Given the description of an element on the screen output the (x, y) to click on. 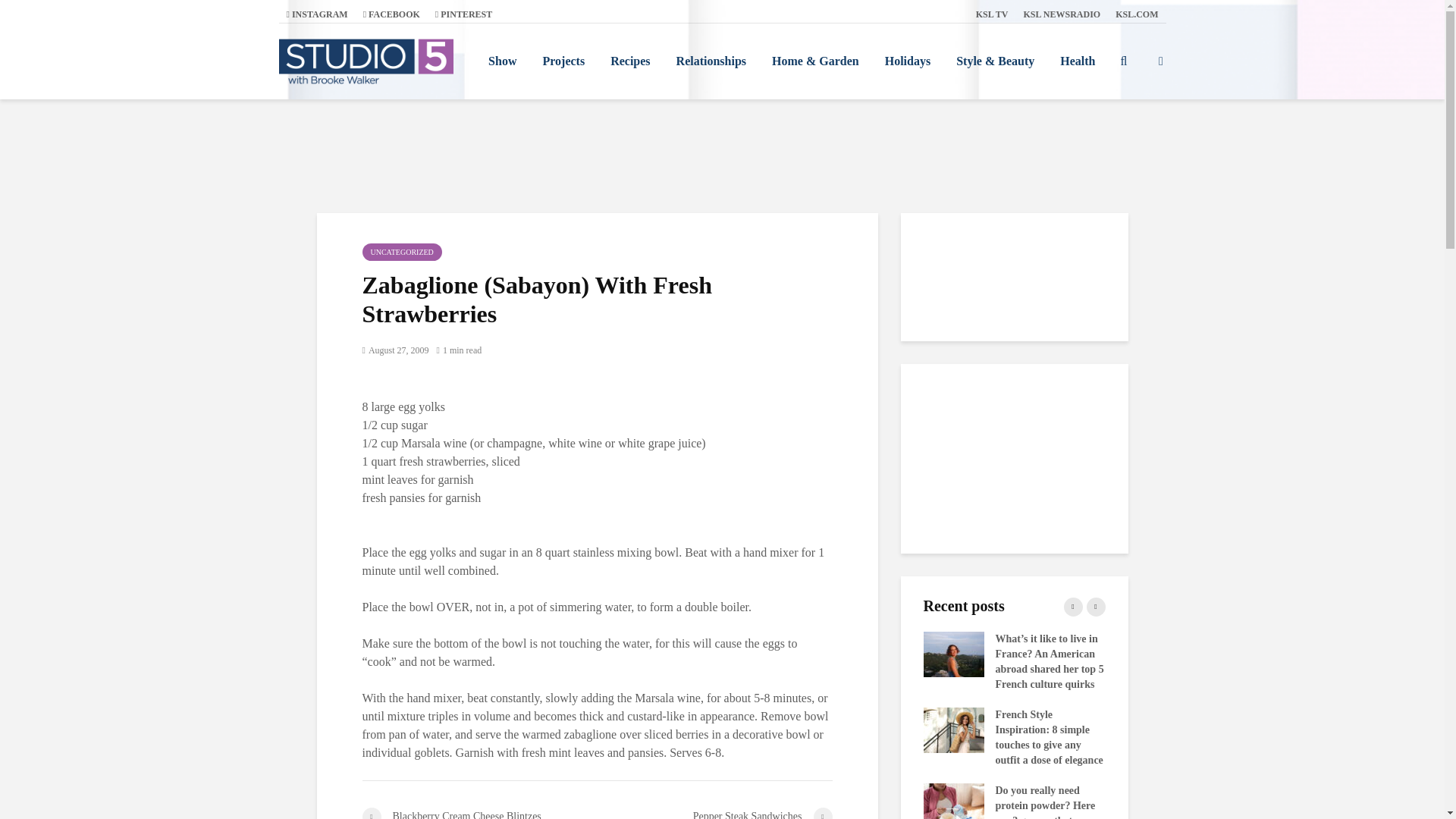
KSL TV (992, 14)
Blackberry Cream Cheese Blintzes (479, 813)
KSL.COM (1137, 14)
3rd party ad content (1014, 458)
FACEBOOK (391, 14)
Holidays (907, 60)
Show (502, 60)
UNCATEGORIZED (402, 252)
Pepper Steak Sandwiches (714, 813)
INSTAGRAM (317, 14)
